Given the description of an element on the screen output the (x, y) to click on. 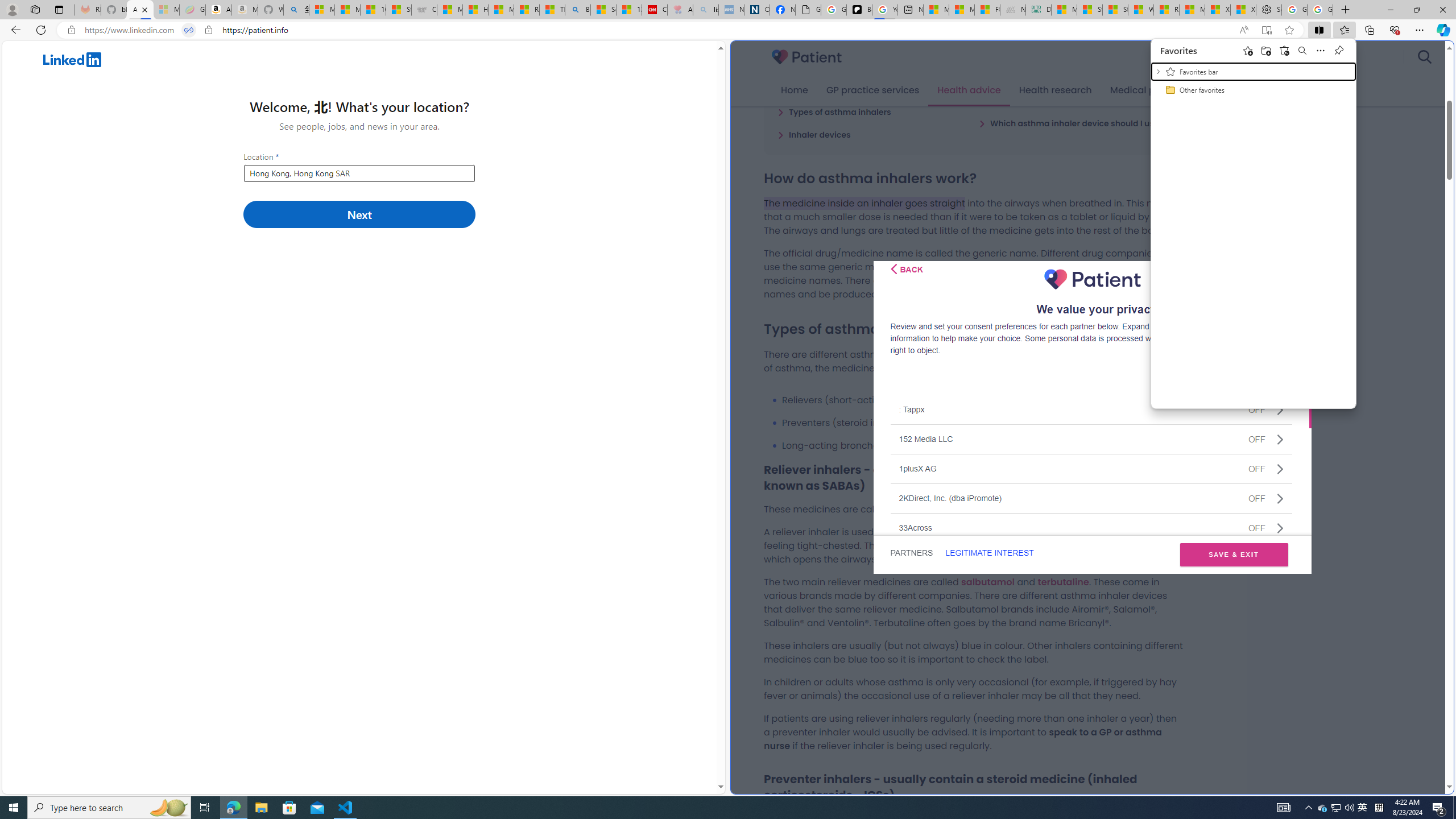
search (1424, 56)
Health advice (969, 90)
Running applications (700, 807)
Search favorites (1302, 49)
Types of asthma inhalers (834, 111)
Health research (1054, 90)
